Given the description of an element on the screen output the (x, y) to click on. 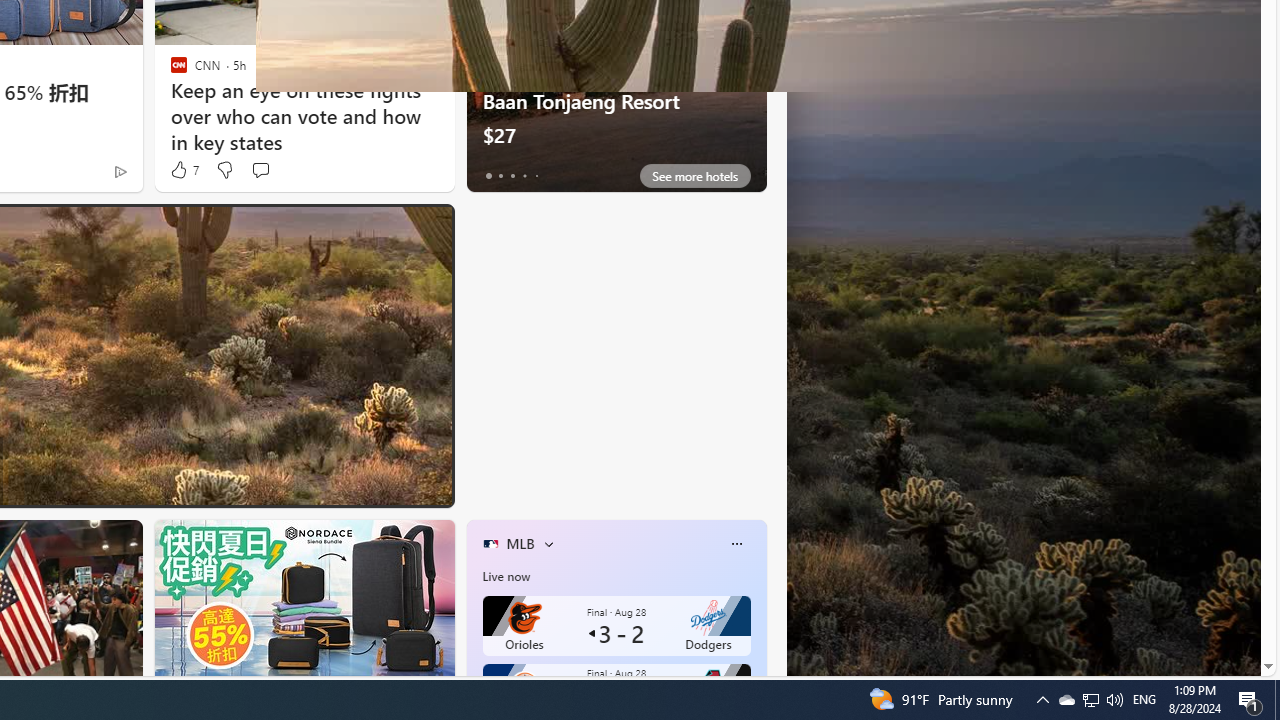
tab-1 (500, 175)
Dislike (224, 170)
tab-0 (488, 175)
tab-4 (535, 175)
Edit Background (1233, 577)
Start the conversation (260, 169)
7 Like (183, 170)
Try Edge (616, 491)
More interests (548, 543)
MLB (520, 543)
Ad Choice (119, 171)
Start the conversation (260, 170)
Microsoft Edge (553, 227)
